Given the description of an element on the screen output the (x, y) to click on. 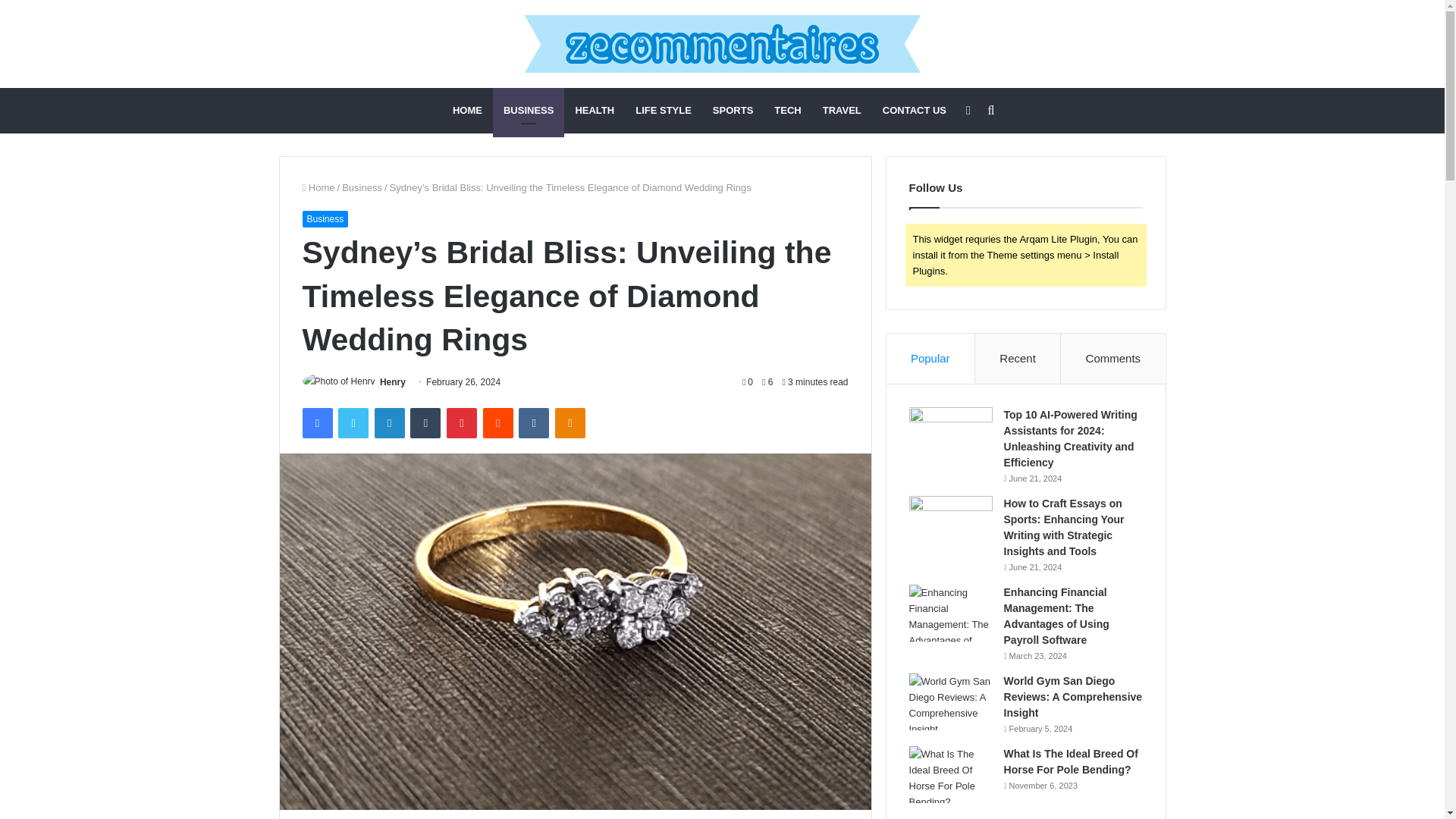
SPORTS (731, 110)
TECH (786, 110)
LIFE STYLE (662, 110)
VKontakte (533, 422)
HOME (467, 110)
TRAVEL (842, 110)
Reddit (498, 422)
Henry (393, 381)
LinkedIn (389, 422)
Reddit (498, 422)
